Given the description of an element on the screen output the (x, y) to click on. 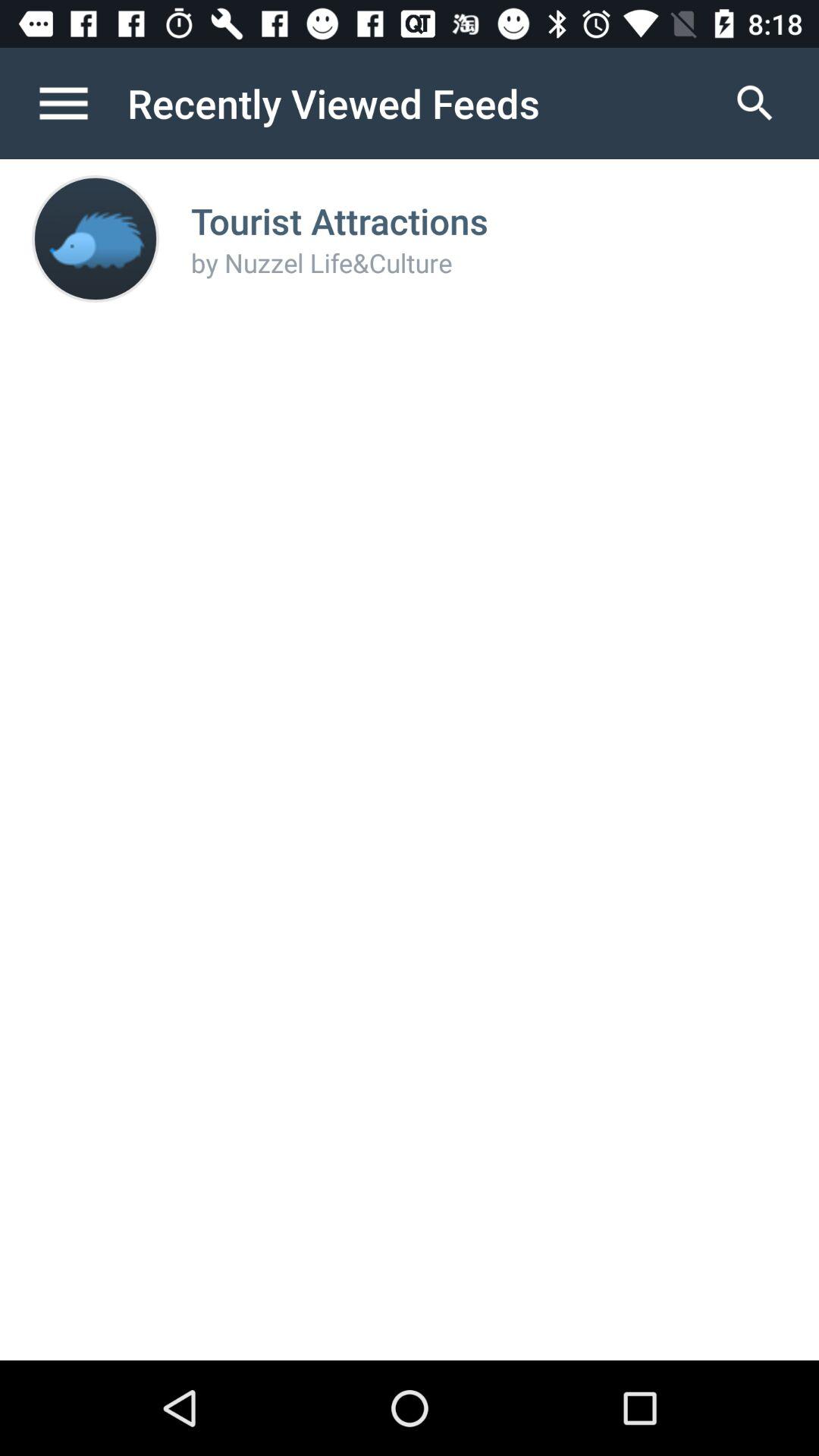
open context menu (79, 103)
